Given the description of an element on the screen output the (x, y) to click on. 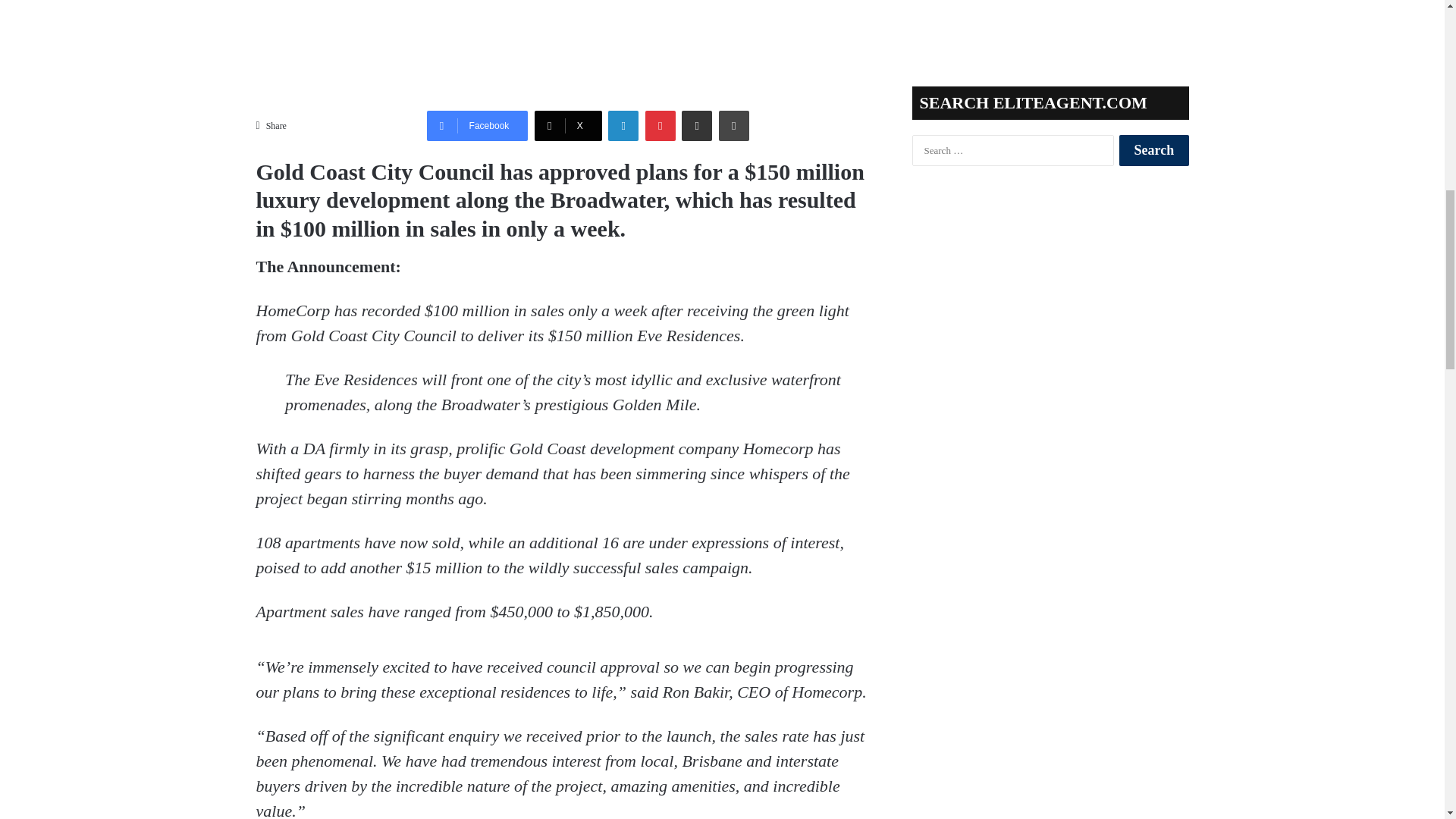
Search (1153, 150)
Share via Email (696, 125)
LinkedIn (623, 125)
Print (734, 125)
Facebook (477, 125)
Search (1153, 150)
X (568, 125)
Pinterest (660, 125)
